Given the description of an element on the screen output the (x, y) to click on. 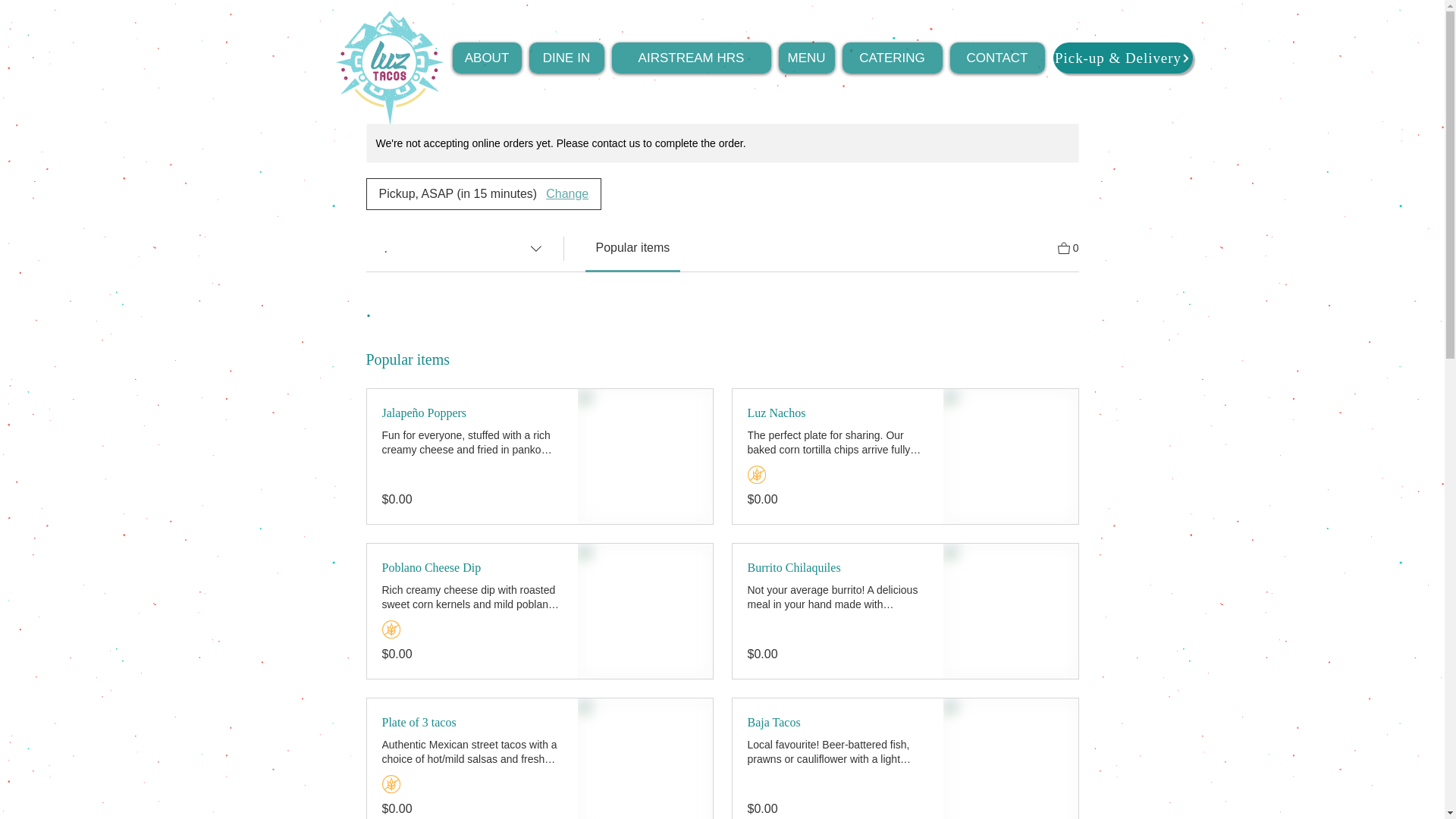
DINE IN (566, 57)
CONTACT (996, 57)
CATERING (891, 57)
ABOUT (486, 57)
Plate of 3 tacos (471, 722)
MENU (805, 57)
Burrito Chilaquiles (838, 567)
AIRSTREAM HRS (690, 57)
Baja Tacos (838, 722)
0 (1068, 246)
Poblano Cheese Dip (471, 567)
Change (567, 194)
. (463, 248)
Luz Nachos (838, 413)
